Given the description of an element on the screen output the (x, y) to click on. 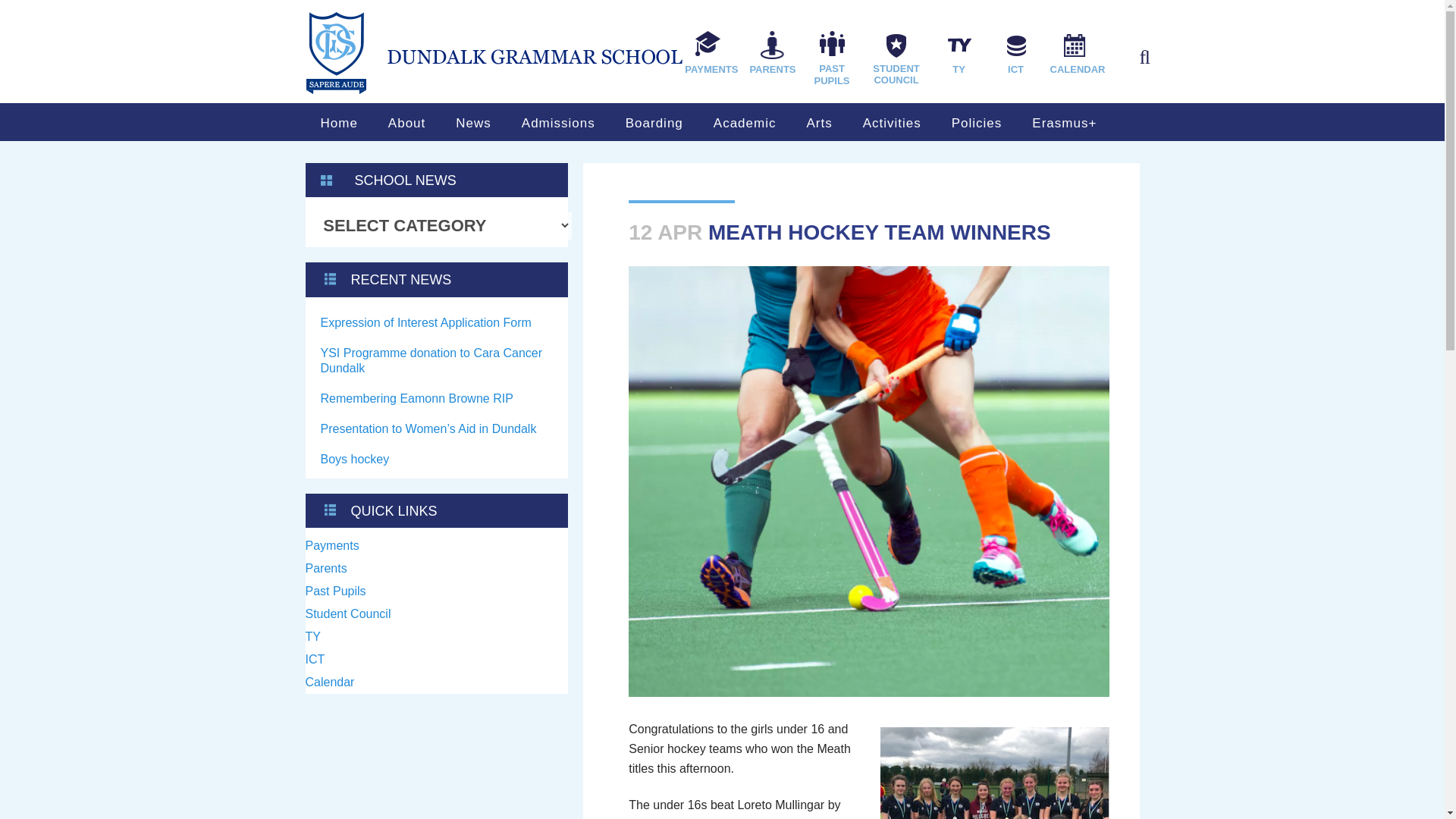
About (406, 123)
TY (958, 53)
Boarding (654, 123)
Admissions (558, 123)
Home (338, 123)
CALENDAR (1077, 53)
PARENTS (771, 53)
News (473, 123)
PAYMENTS (711, 53)
ICT (1015, 53)
